Given the description of an element on the screen output the (x, y) to click on. 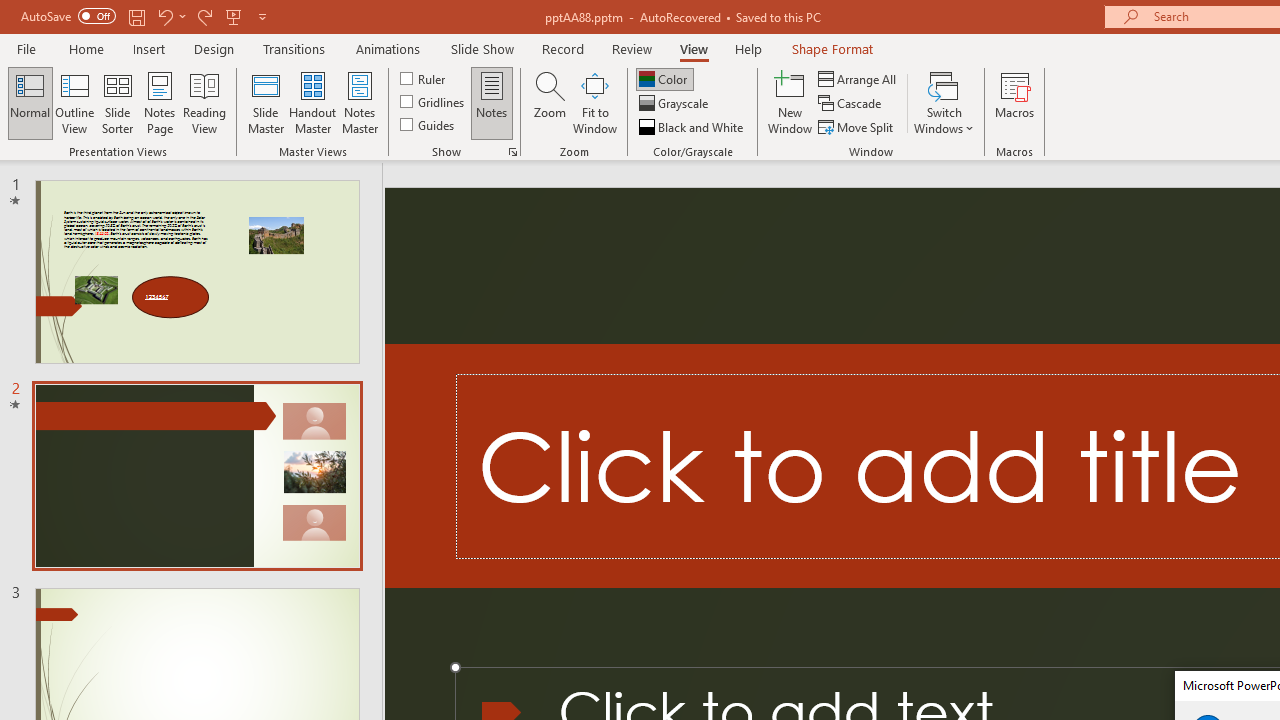
Ruler (423, 78)
Zoom... (549, 102)
